Given the description of an element on the screen output the (x, y) to click on. 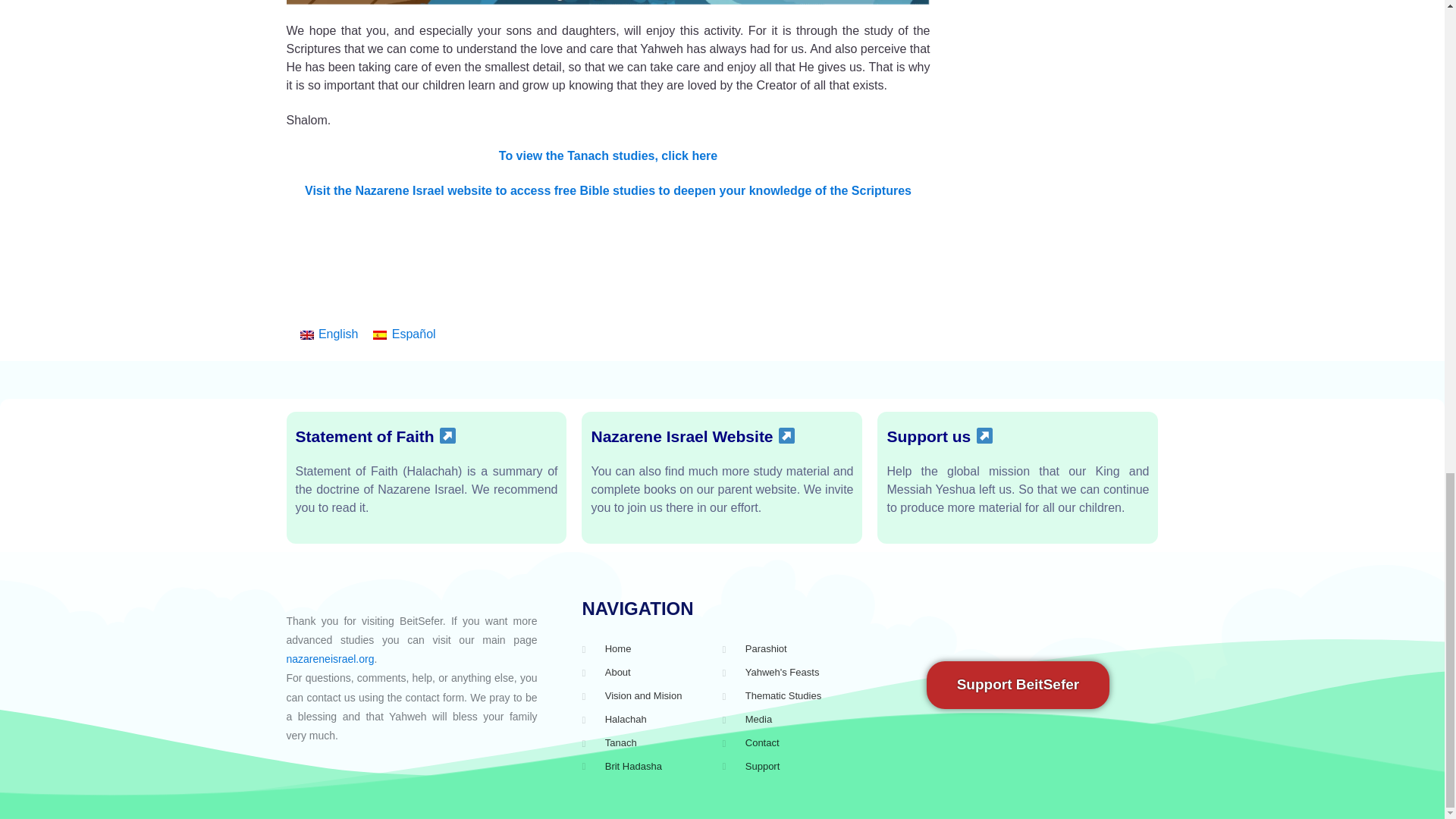
Scroll back to top (1406, 412)
